Given the description of an element on the screen output the (x, y) to click on. 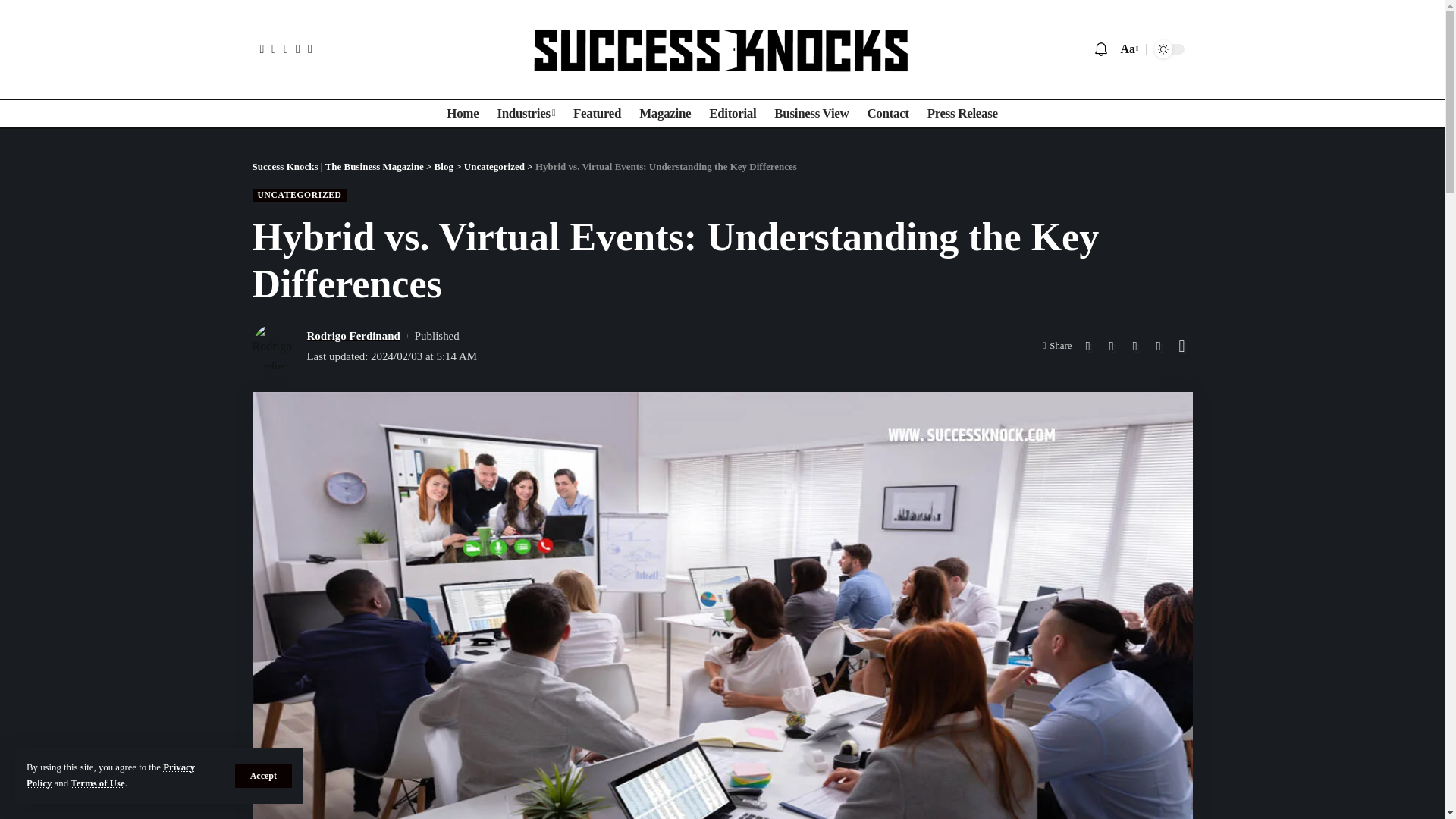
Accept (263, 775)
Home (462, 113)
Go to Blog. (442, 165)
Aa (1127, 48)
Industries (525, 113)
Go to the Uncategorized Category archives. (494, 165)
Terms of Use (96, 783)
Privacy Policy (110, 774)
